Given the description of an element on the screen output the (x, y) to click on. 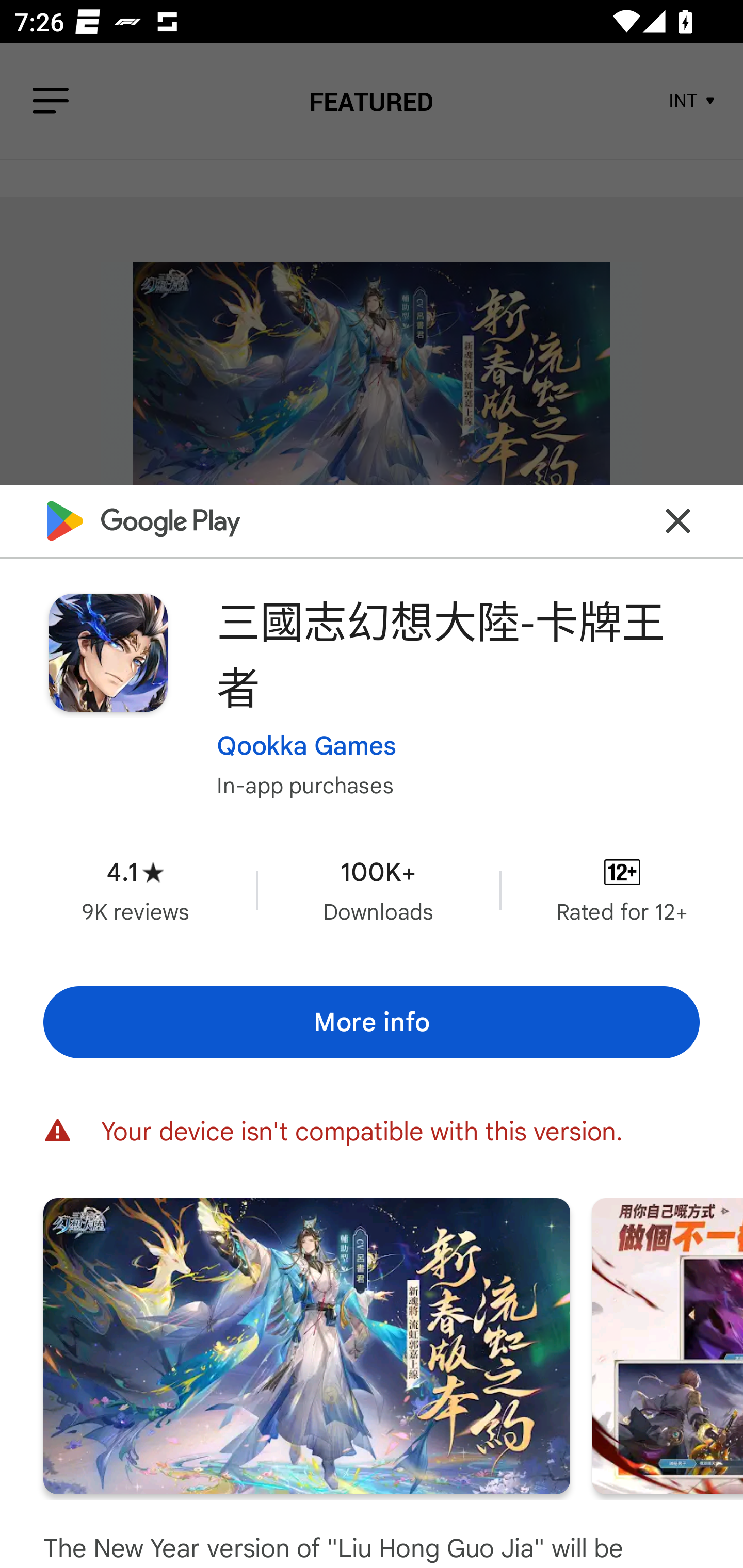
Close (677, 520)
Image of app or game icon for 三國志幻想大陸-卡牌王者 (108, 653)
Qookka Games (306, 745)
More info (371, 1022)
Screenshot "1" of "7" (306, 1345)
